Given the description of an element on the screen output the (x, y) to click on. 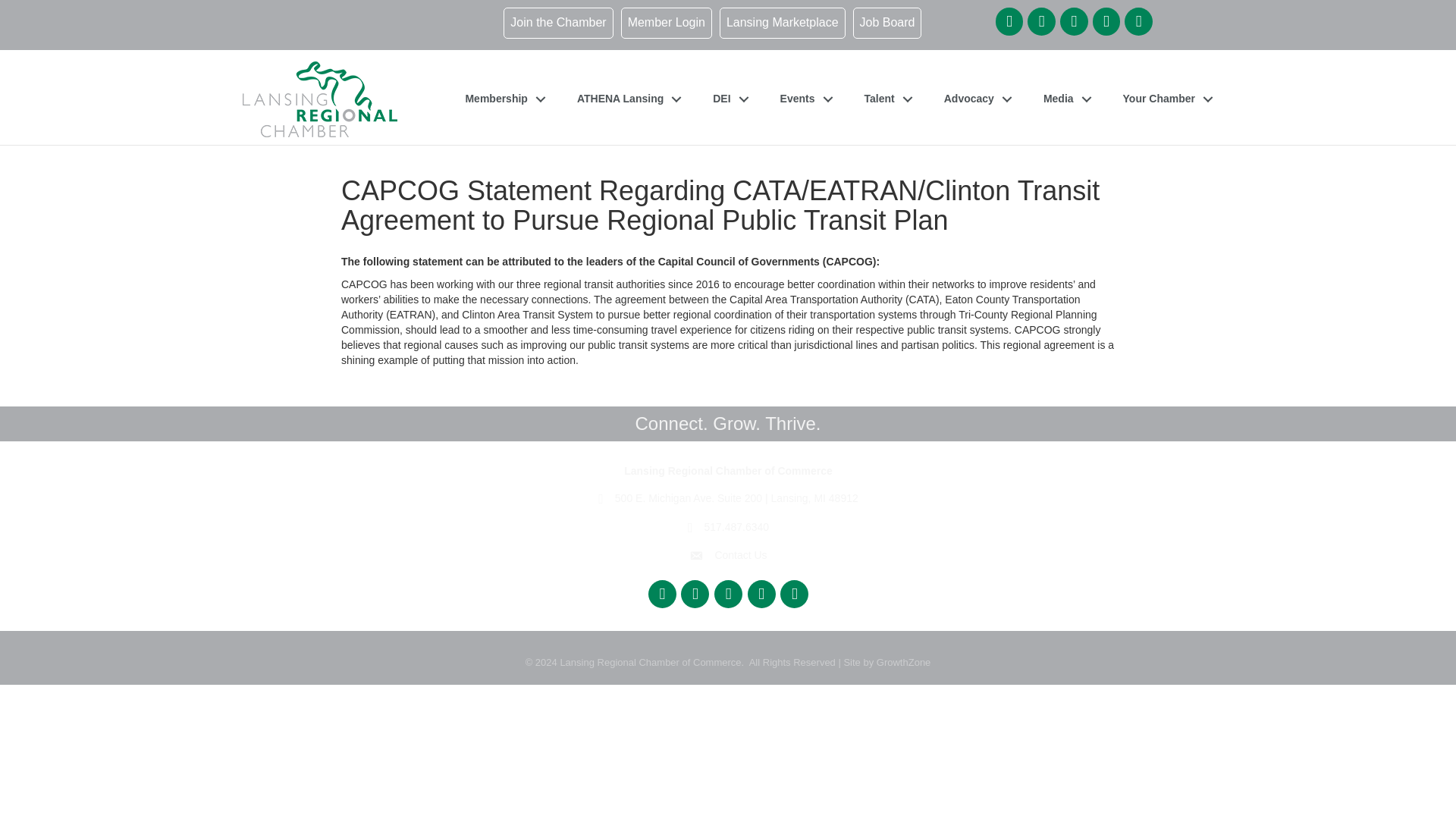
lrcc-logo-sm (320, 99)
Join the Chamber (558, 22)
Talent (884, 99)
Job Board (887, 22)
Advocacy (974, 99)
Lansing Marketplace (782, 22)
Member Login (665, 22)
ATHENA Lansing (625, 99)
Membership (501, 99)
Events (803, 99)
DEI (726, 99)
